Given the description of an element on the screen output the (x, y) to click on. 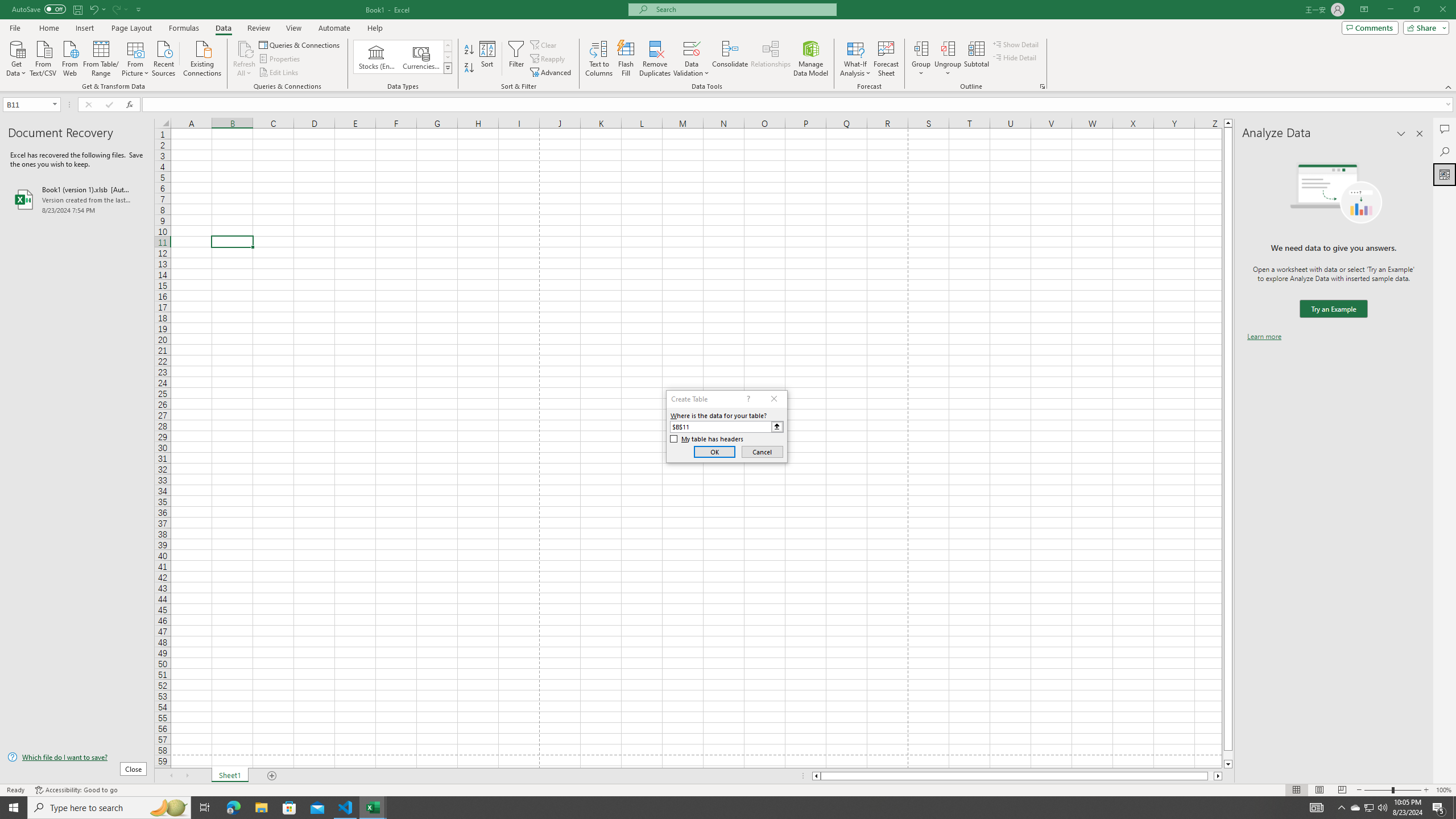
Group and Outline Settings (1042, 85)
From Picture (135, 57)
What-If Analysis (855, 58)
Filter (515, 58)
Subtotal (976, 58)
Advanced... (551, 72)
